Given the description of an element on the screen output the (x, y) to click on. 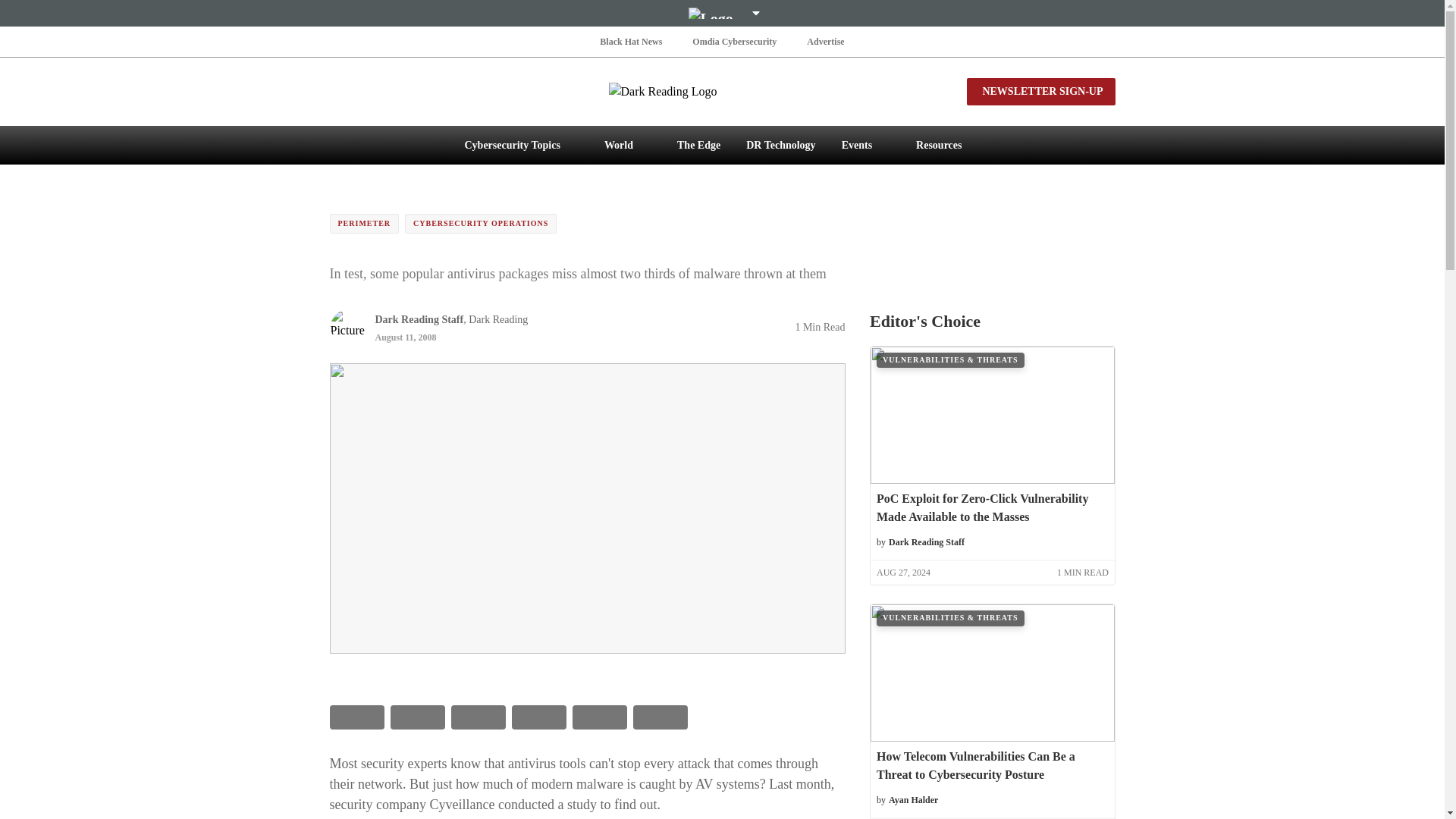
Advertise (825, 41)
Picture of Dark Reading Staff (347, 326)
NEWSLETTER SIGN-UP (1040, 90)
Black Hat News (630, 41)
Omdia Cybersecurity (733, 41)
Dark Reading Logo (721, 91)
